Given the description of an element on the screen output the (x, y) to click on. 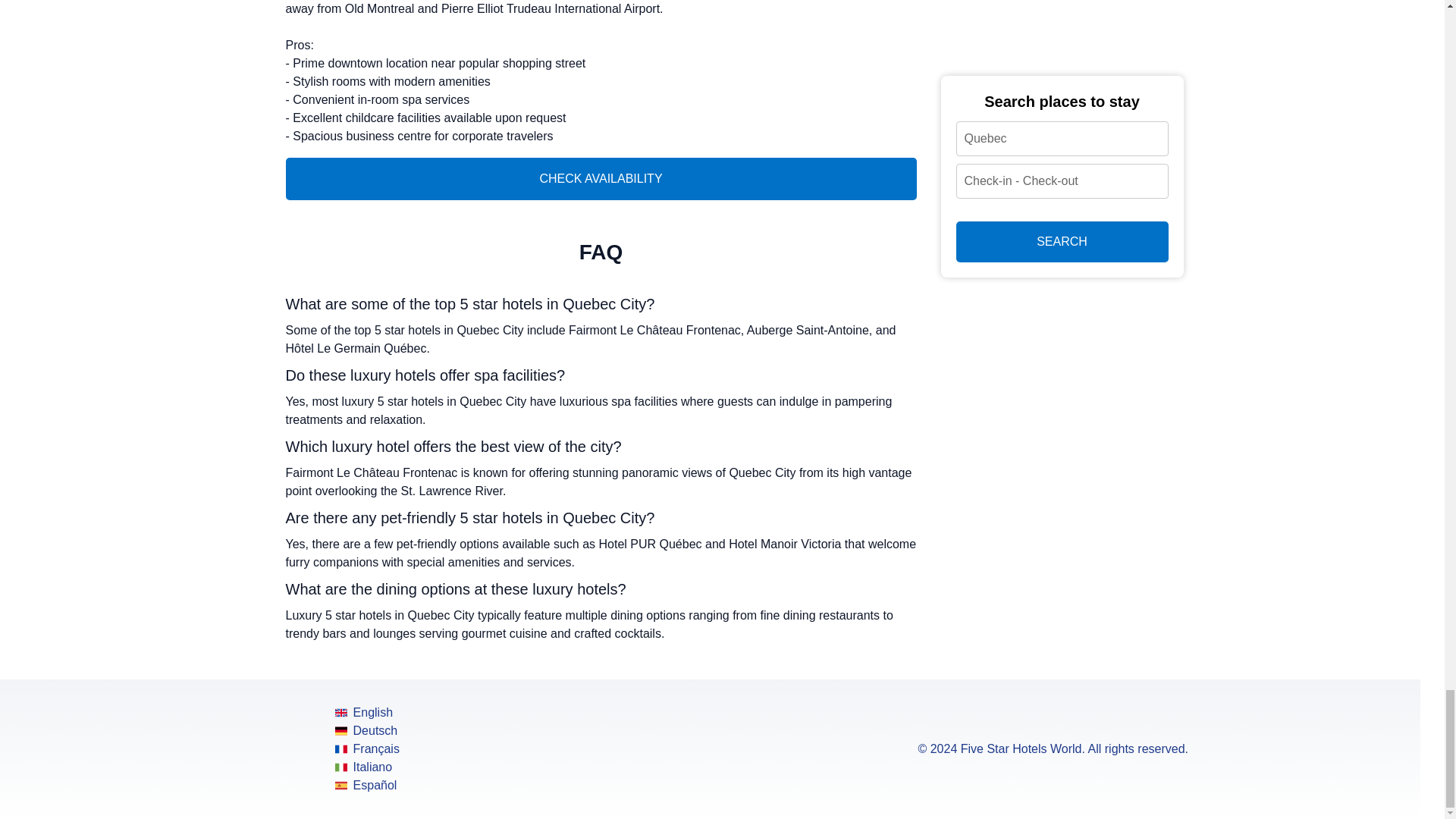
English (366, 712)
Italiano (366, 767)
Deutsch (366, 730)
